Given the description of an element on the screen output the (x, y) to click on. 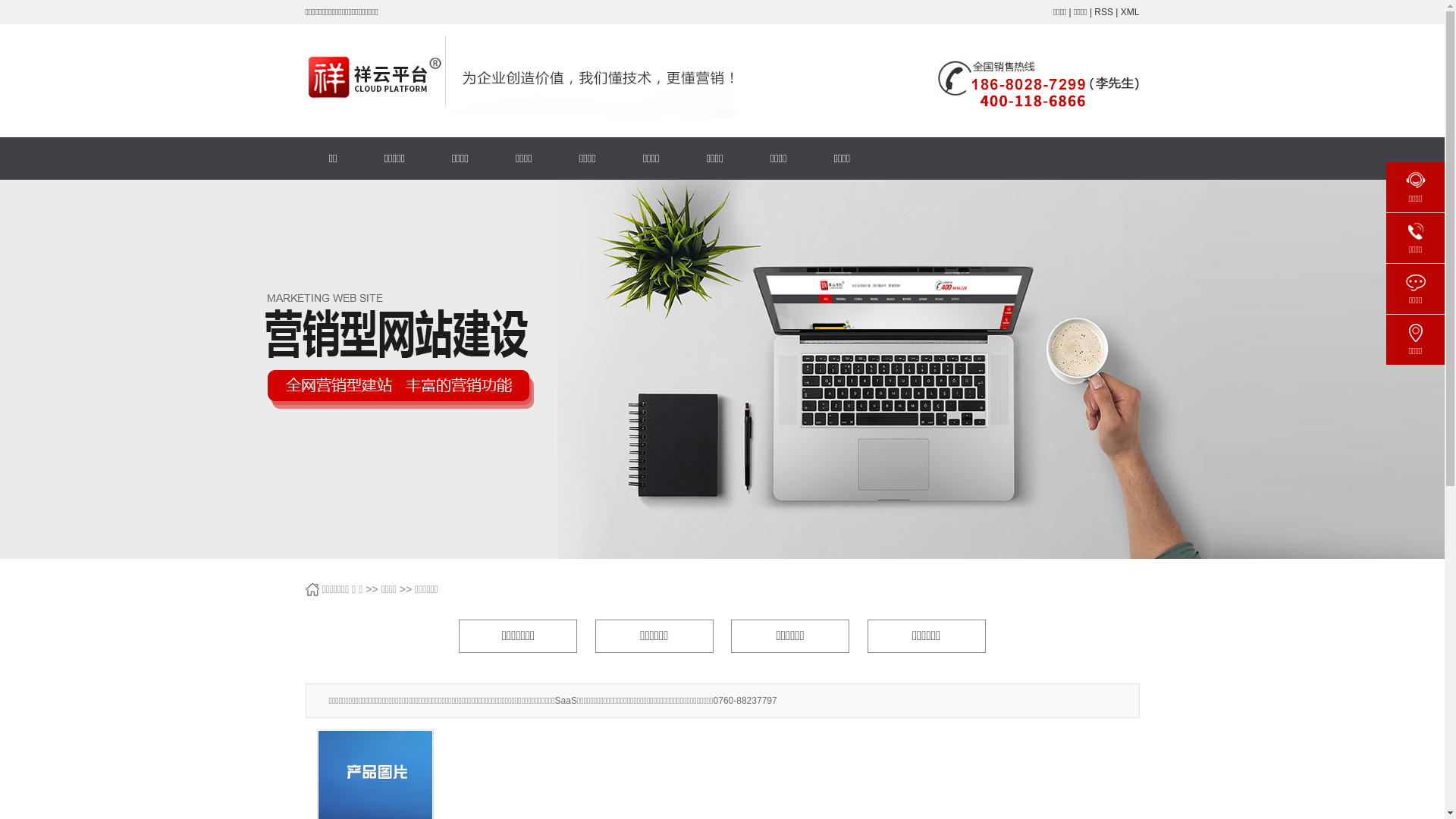
1532594592881659.jpg Element type: hover (588, 75)
RSS Element type: text (1103, 11)
1638785425104832.jpg Element type: hover (1029, 80)
XML Element type: text (1129, 11)
